Given the description of an element on the screen output the (x, y) to click on. 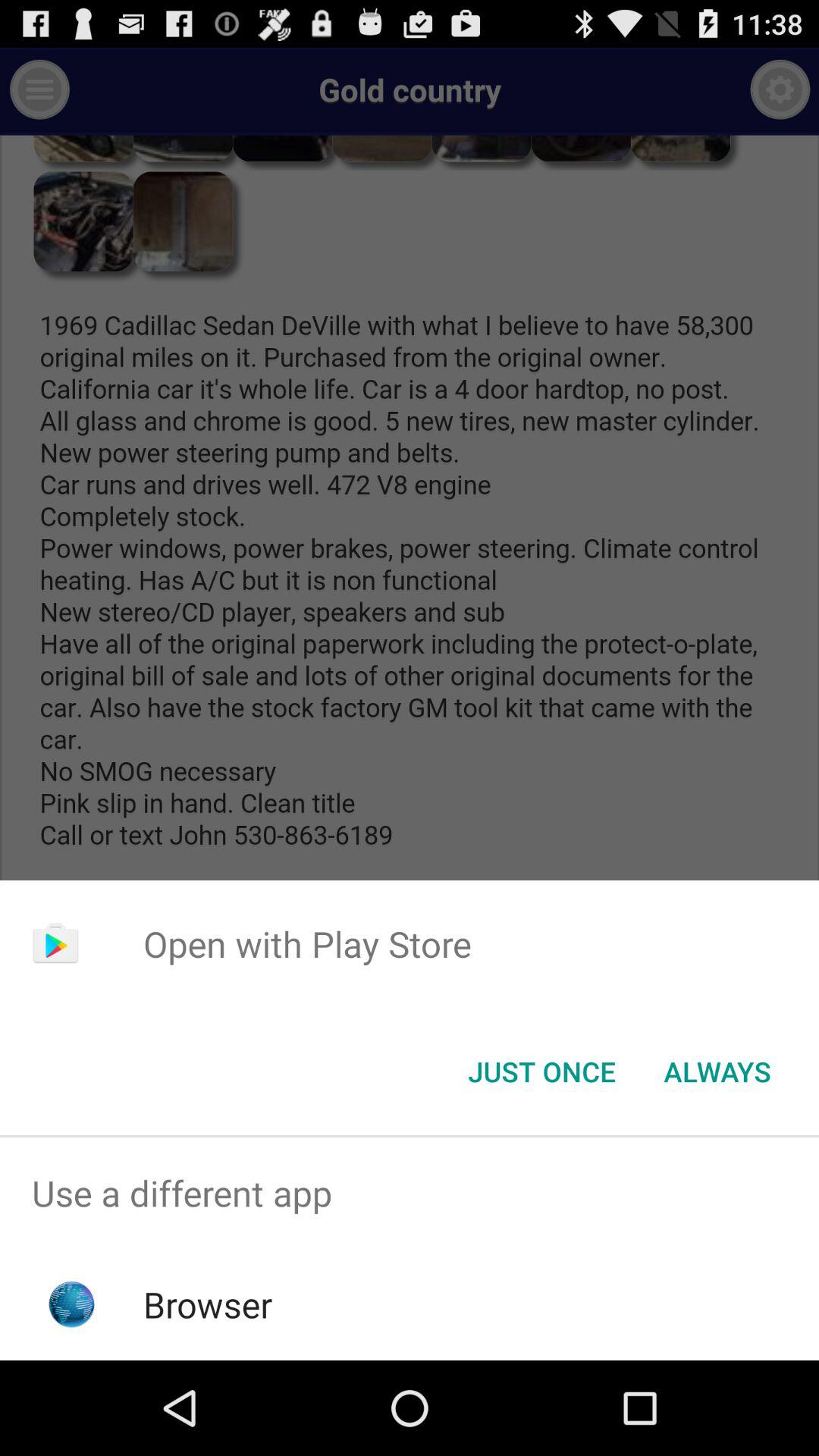
choose icon next to the just once button (717, 1071)
